Given the description of an element on the screen output the (x, y) to click on. 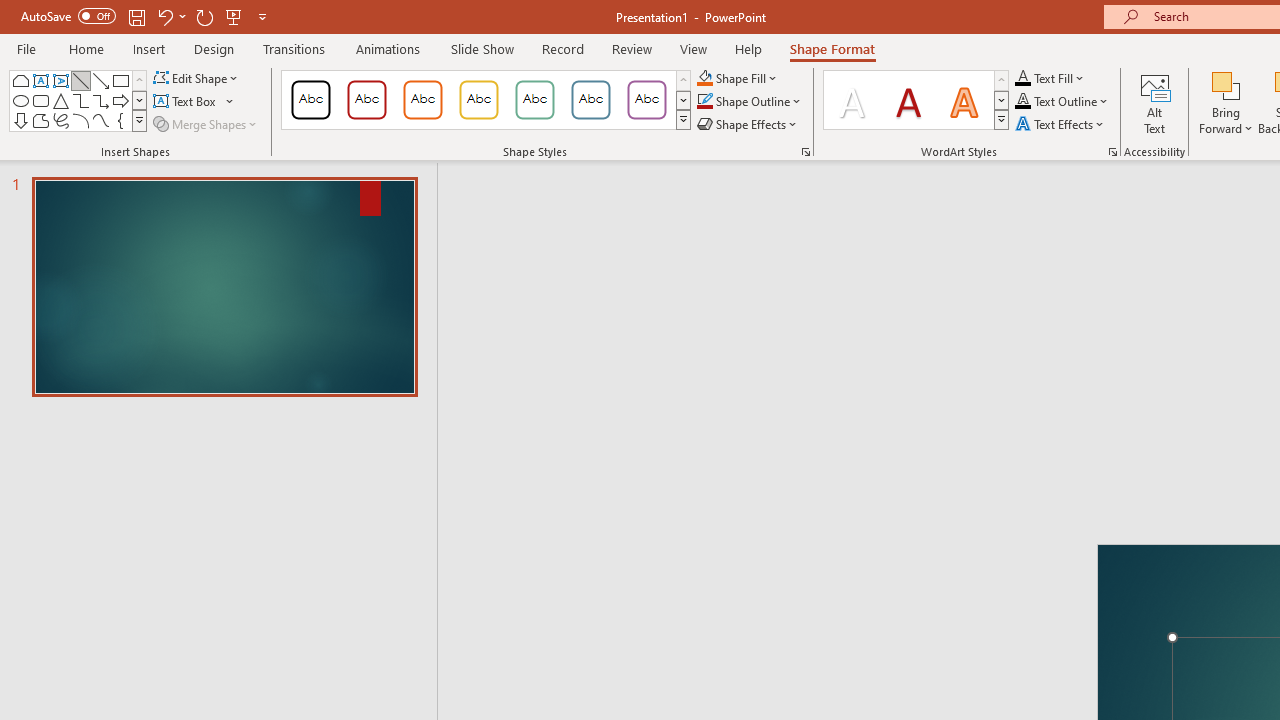
Freeform: Scribble (60, 120)
Bring Forward (1225, 84)
Shapes (139, 120)
Vertical Text Box (60, 80)
Slide (224, 286)
Colored Outline - Orange, Accent 2 (422, 100)
Colored Outline - Blue-Gray, Accent 5 (591, 100)
Connector: Elbow (80, 100)
Freeform: Shape (40, 120)
Shape Format (832, 48)
